Given the description of an element on the screen output the (x, y) to click on. 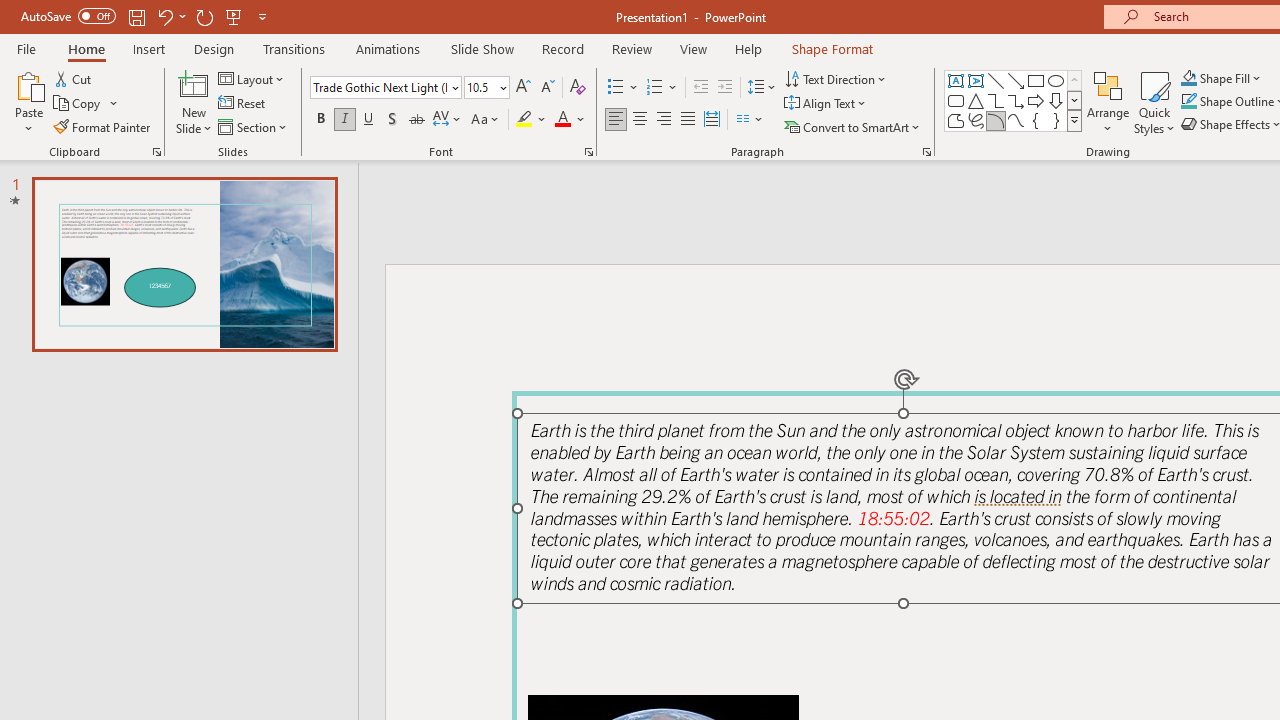
Shape Fill Aqua, Accent 2 (1188, 78)
